Given the description of an element on the screen output the (x, y) to click on. 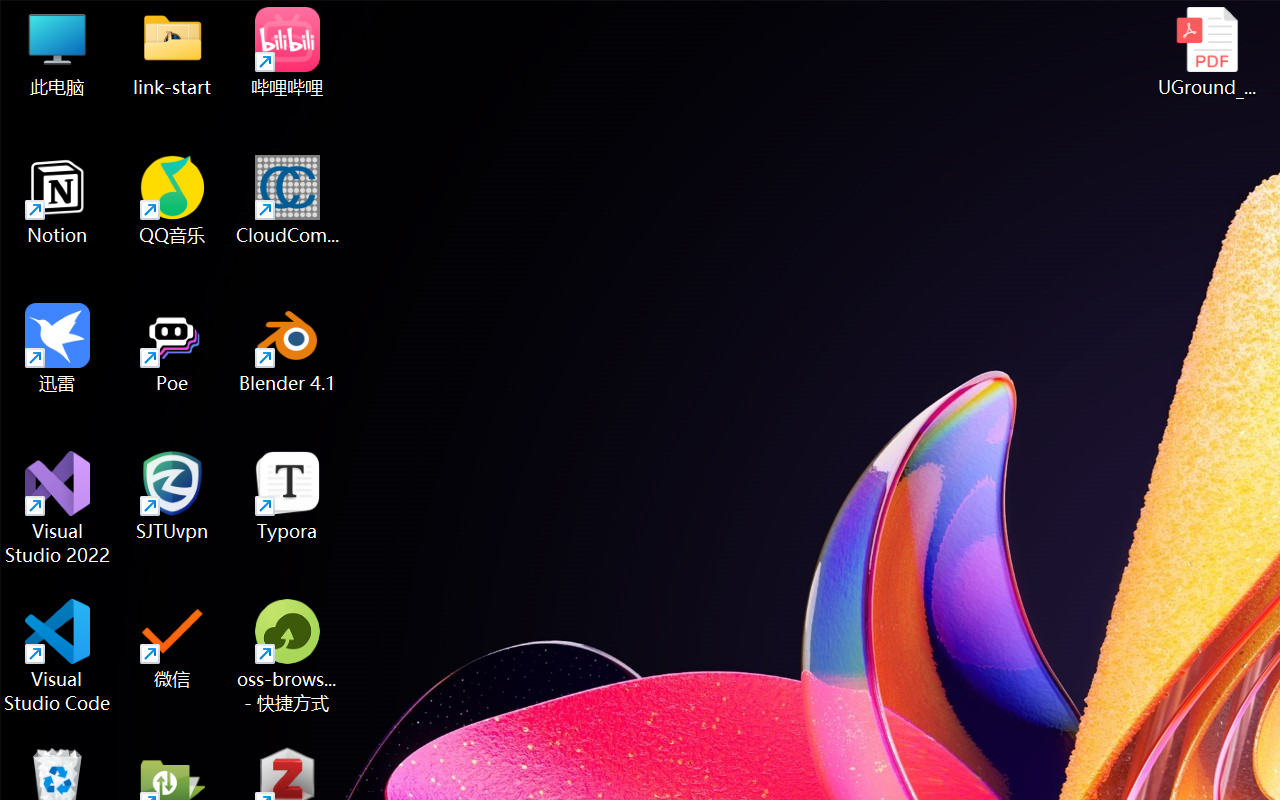
Undo Apply Quick Style (290, 35)
